Given the description of an element on the screen output the (x, y) to click on. 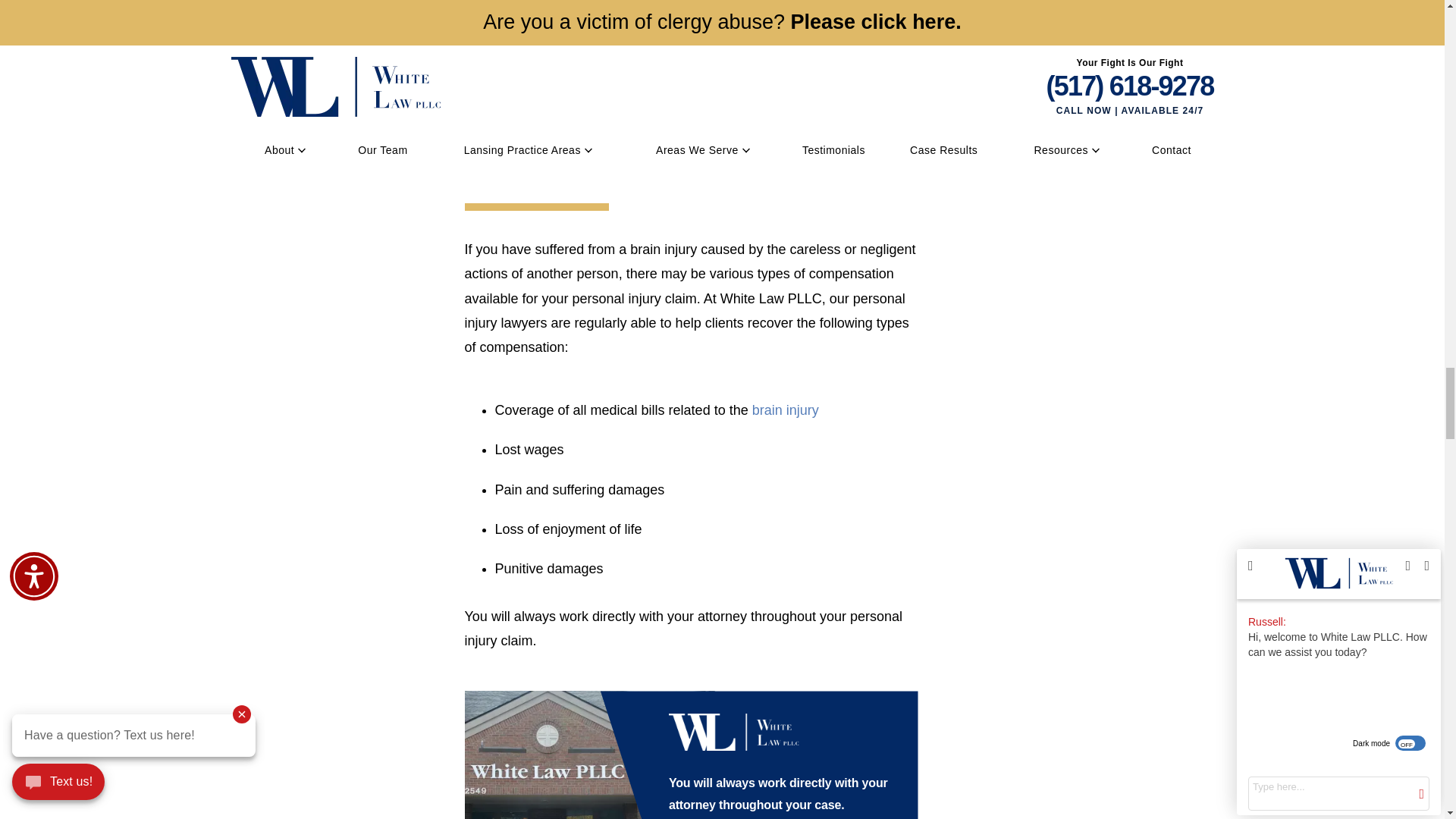
White Law - PLLC (733, 732)
FREE Case Consultation (625, 22)
